Given the description of an element on the screen output the (x, y) to click on. 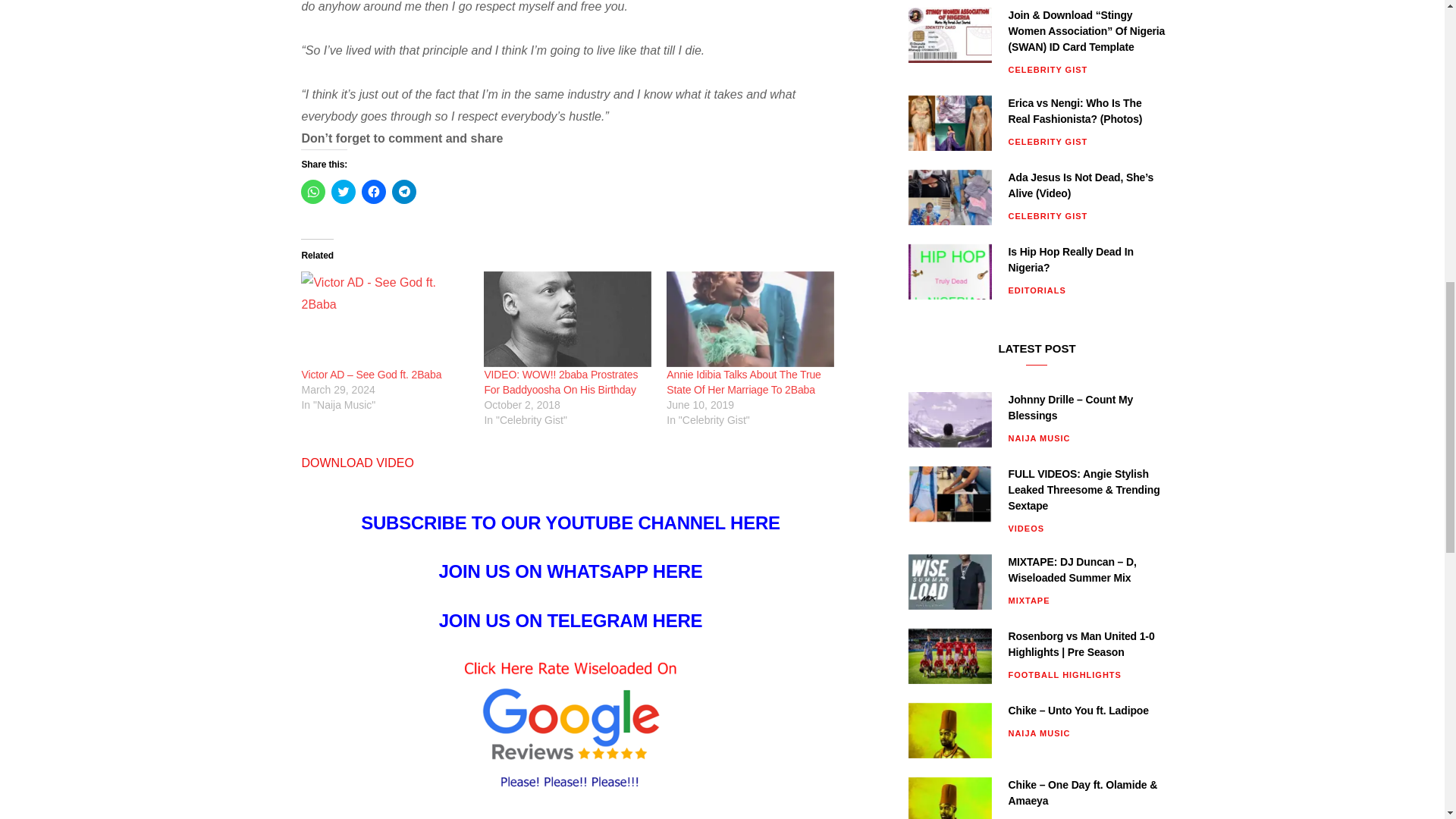
Click to share on WhatsApp (312, 191)
VIDEO: WOW!! 2baba Prostrates For Baddyoosha On His Birthday (566, 318)
Click to share on Facebook (373, 191)
VIDEO: WOW!! 2baba Prostrates For Baddyoosha On His Birthday (560, 381)
Click to share on Telegram (403, 191)
Click to share on Twitter (343, 191)
